Given the description of an element on the screen output the (x, y) to click on. 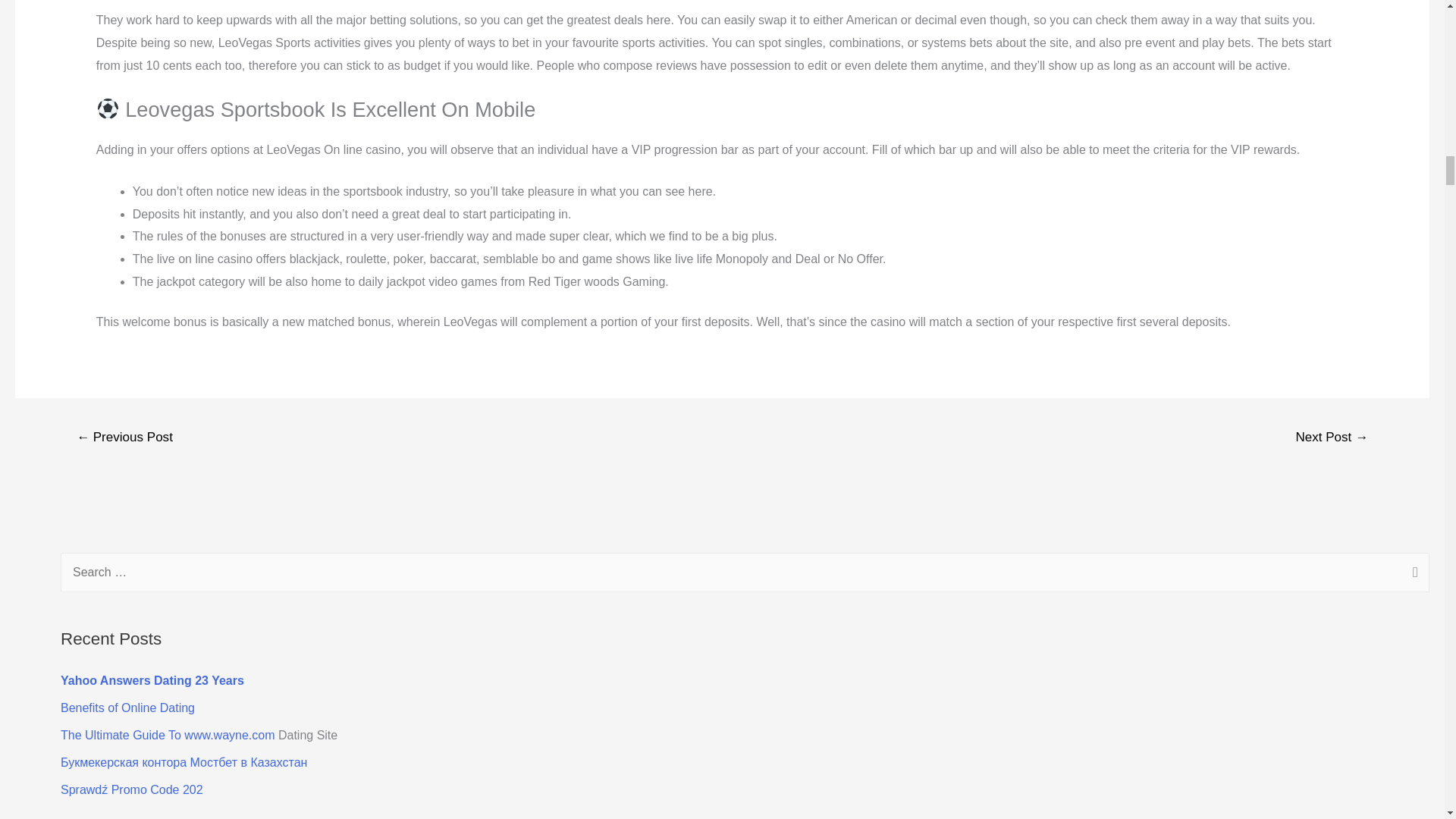
Search (1411, 573)
Search (1411, 573)
